Given the description of an element on the screen output the (x, y) to click on. 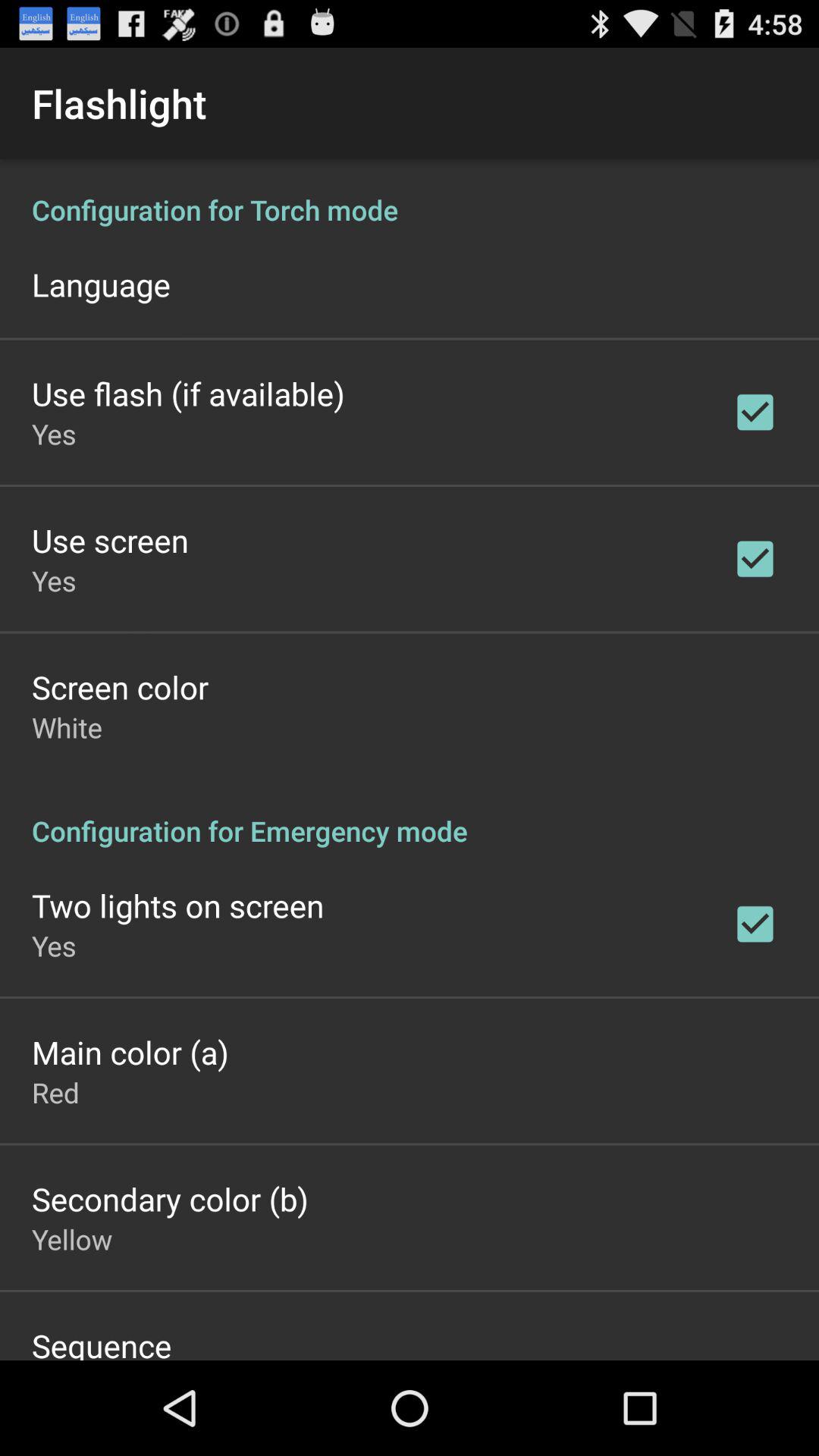
tap the app above yes (177, 905)
